Given the description of an element on the screen output the (x, y) to click on. 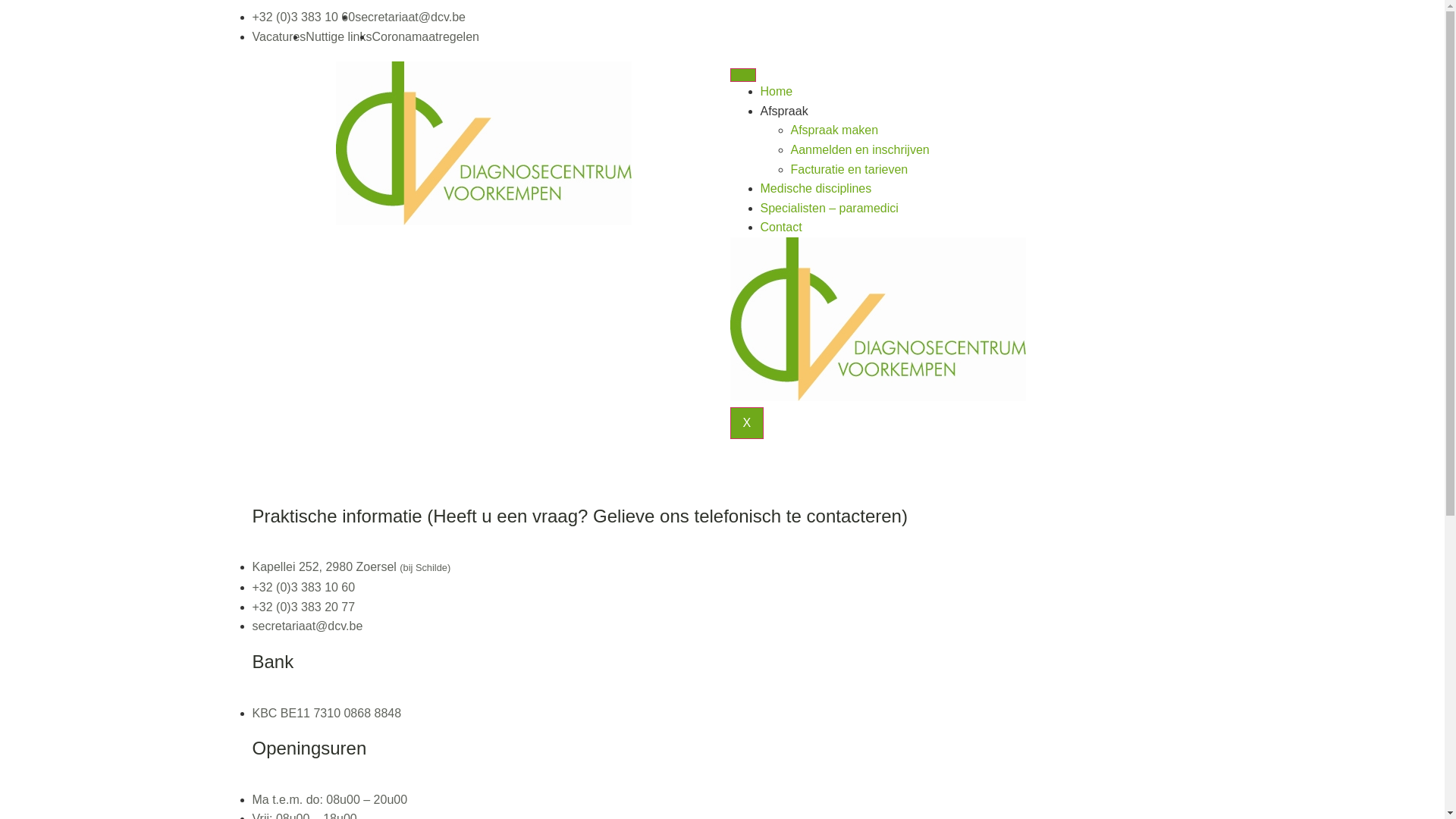
Coronamaatregelen Element type: text (425, 36)
Medische disciplines Element type: text (815, 188)
Facturatie en tarieven Element type: text (848, 169)
Afspraak maken Element type: text (834, 129)
+32 (0)3 383 10 60 Element type: text (302, 16)
secretariaat@dcv.be Element type: text (409, 16)
Home Element type: text (775, 90)
Aanmelden en inschrijven Element type: text (859, 149)
X Element type: text (746, 423)
Vacatures Element type: text (278, 36)
Contact Element type: text (780, 226)
Afspraak Element type: text (783, 110)
Nuttige links Element type: text (338, 36)
secretariaat@dcv.be Element type: text (306, 625)
Kapellei 252, 2980 Zoersel (bij Schilde) Element type: text (350, 566)
+32 (0)3 383 10 60 Element type: text (302, 586)
